Given the description of an element on the screen output the (x, y) to click on. 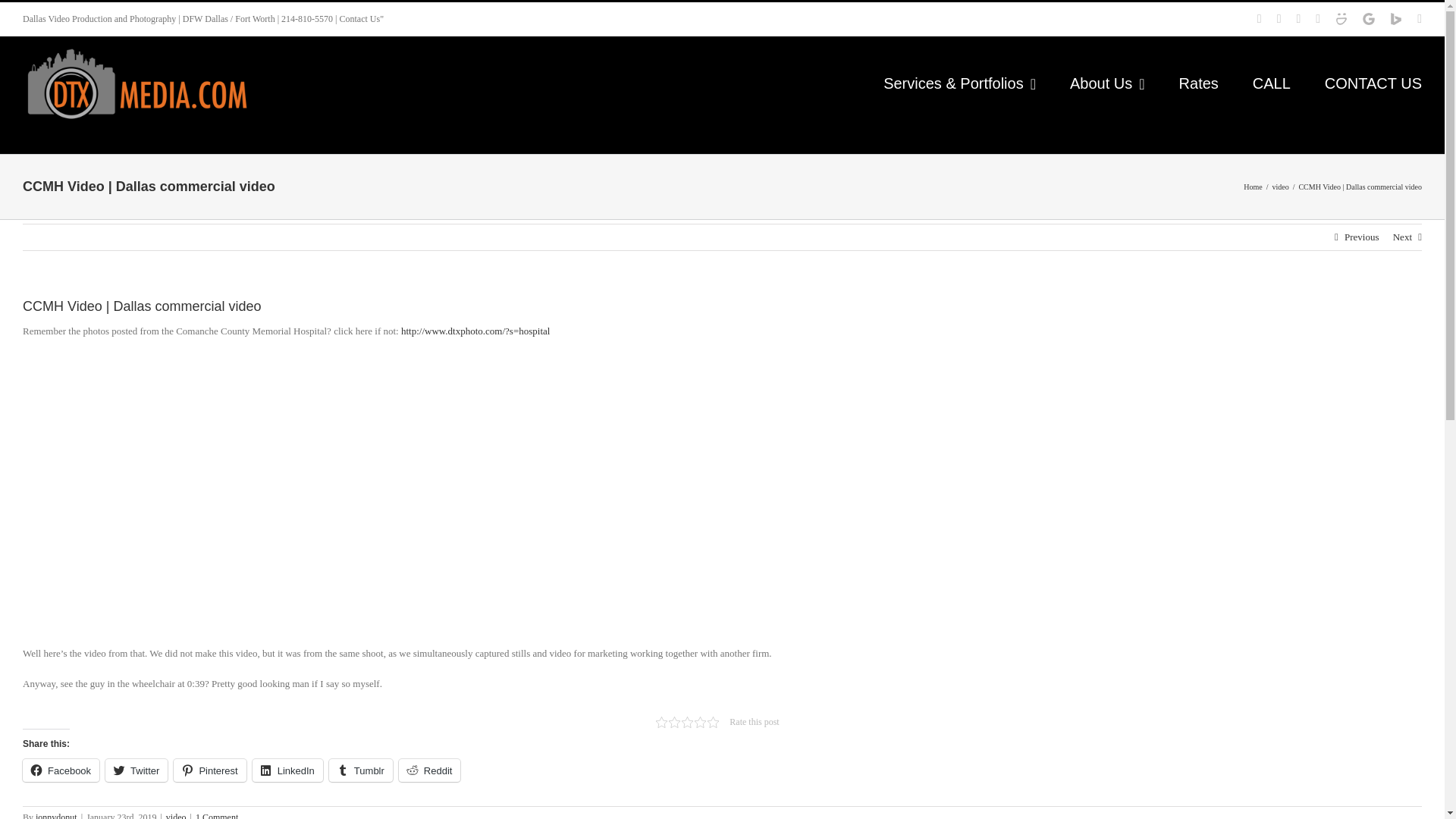
Bing (1396, 19)
Click to share on Pinterest (209, 770)
Smugmug (1341, 19)
Smugmug (1341, 19)
Posts by jonnydonut (55, 815)
Google Maps (1368, 19)
Click to share on Facebook (61, 770)
214-810-5570 (307, 18)
Click to share on Twitter (135, 770)
Click to share on LinkedIn (287, 770)
